Given the description of an element on the screen output the (x, y) to click on. 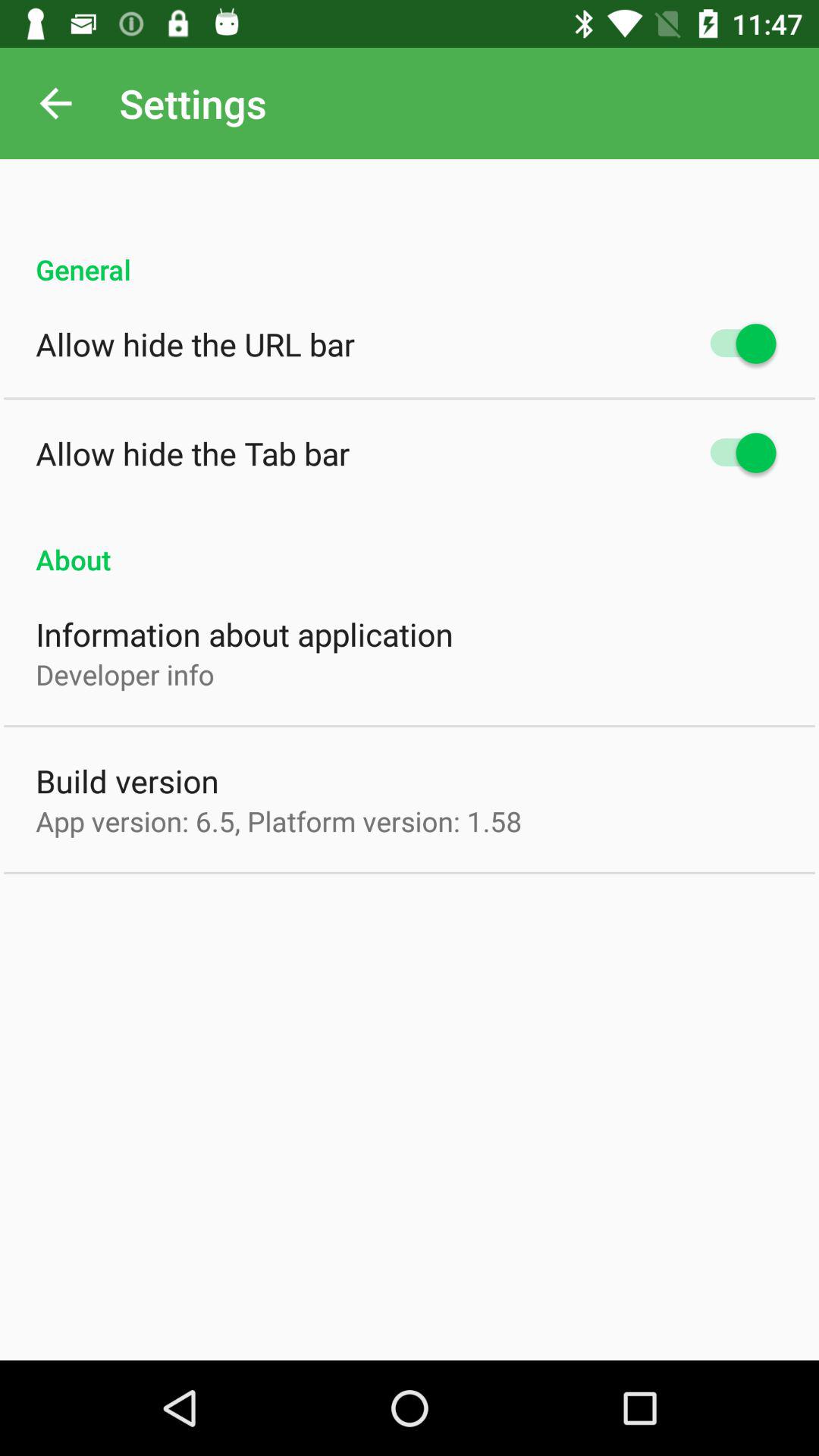
turn off the app version 6 icon (278, 821)
